Given the description of an element on the screen output the (x, y) to click on. 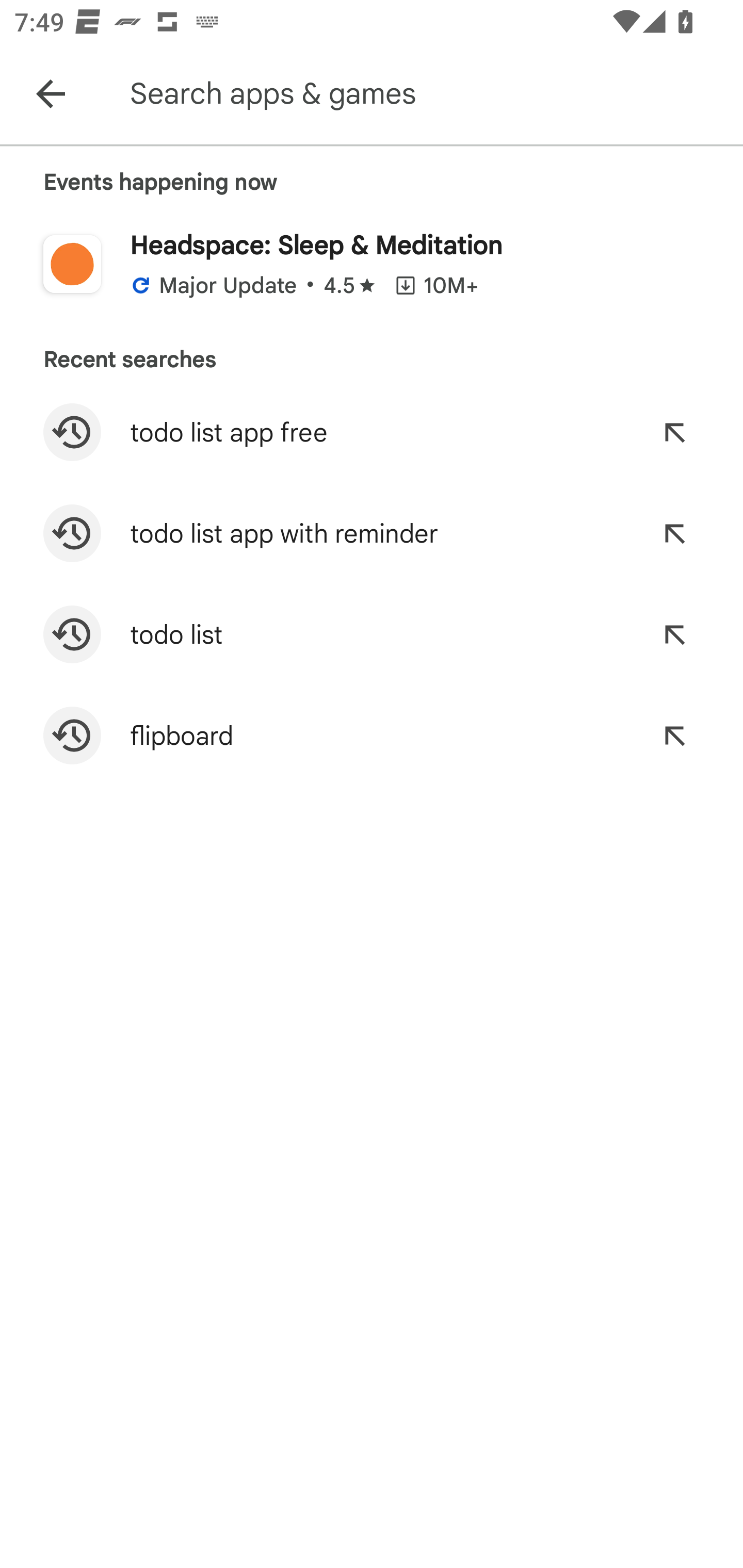
Navigate up (50, 93)
Search apps & games (432, 93)
Refine search to "todo list app free" (673, 431)
Refine search to "todo list app with reminder" (673, 532)
Refine search to "todo list" (673, 634)
Refine search to "flipboard" (673, 735)
